Given the description of an element on the screen output the (x, y) to click on. 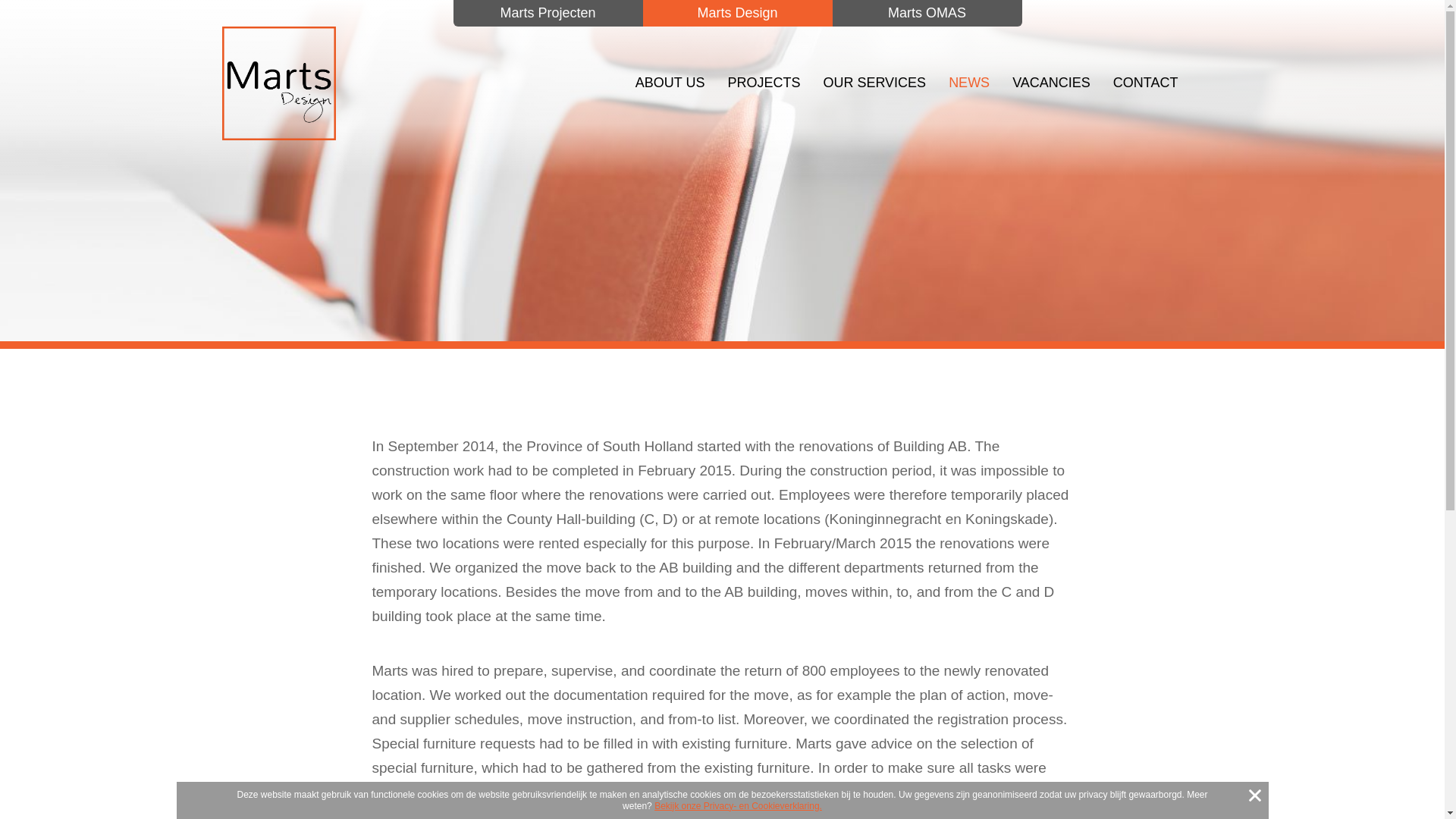
PROJECTS (762, 82)
OUR SERVICES (874, 82)
VACANCIES (1050, 82)
NEWS (969, 82)
Bekijk onze Privacy- en Cookieverklaring. (737, 805)
Marts Design (277, 83)
ABOUT US (669, 82)
CONTACT (1145, 82)
